Given the description of an element on the screen output the (x, y) to click on. 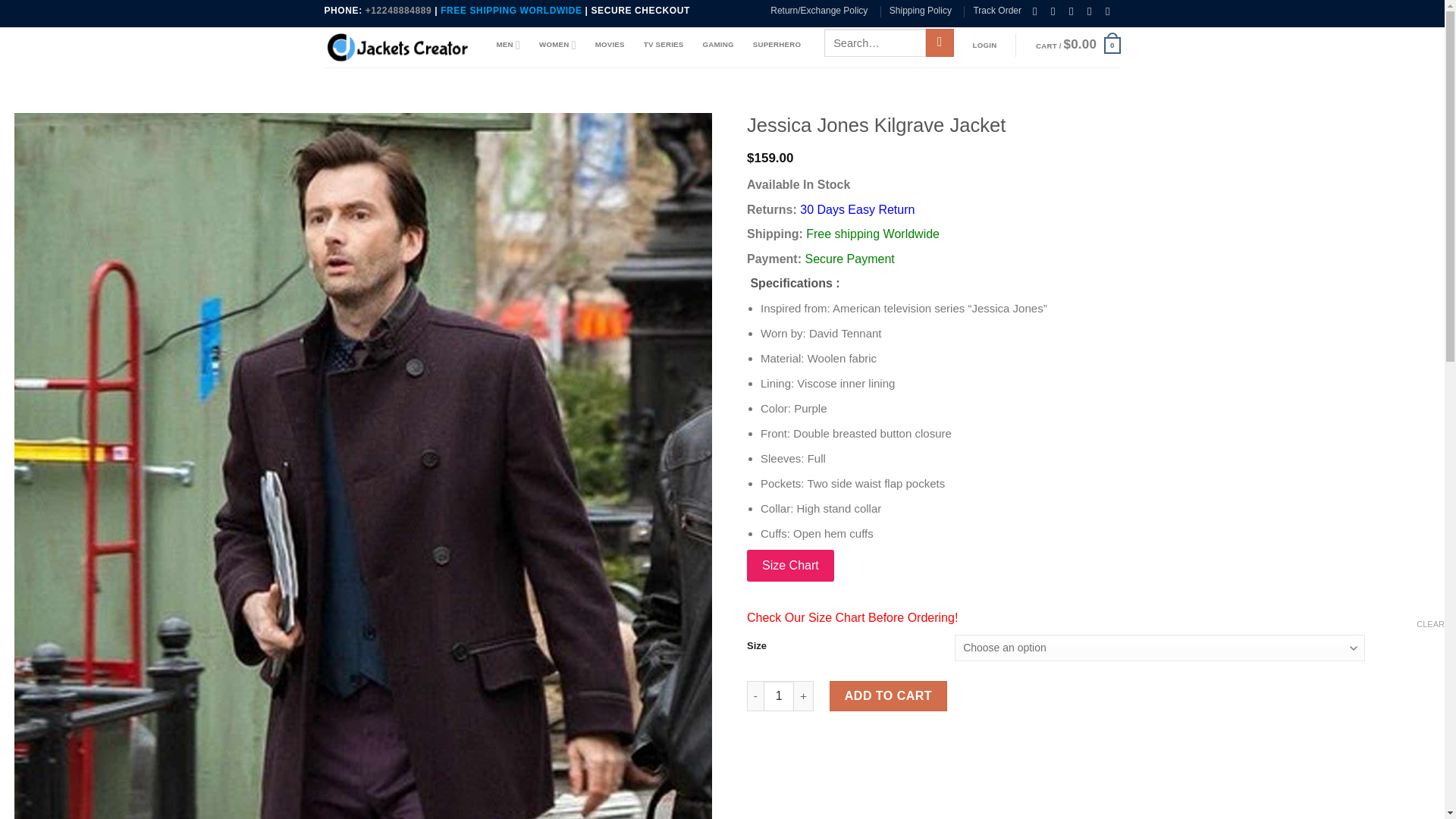
Cart (1078, 45)
WOMEN (557, 44)
1 (777, 695)
GAMING (717, 44)
Jackets Creator (399, 47)
Shipping Policy (920, 11)
TV SERIES (663, 44)
Track Order (997, 11)
